Given the description of an element on the screen output the (x, y) to click on. 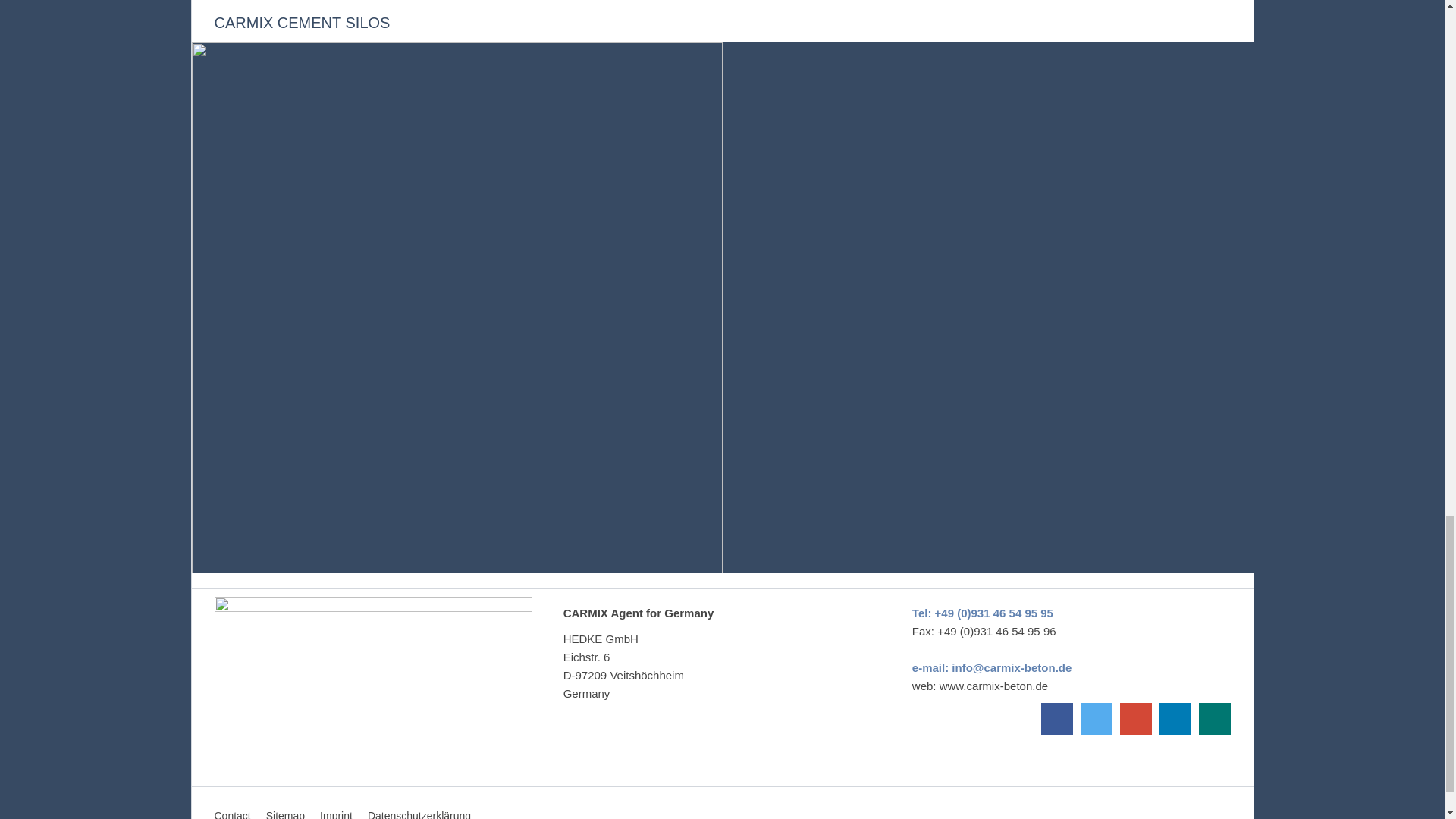
Bei LinkedIn teilen (1174, 718)
Bei Twitter teilen (1096, 718)
Bei Facebook teilen (1056, 718)
Bei XING teilen (1214, 718)
